Given the description of an element on the screen output the (x, y) to click on. 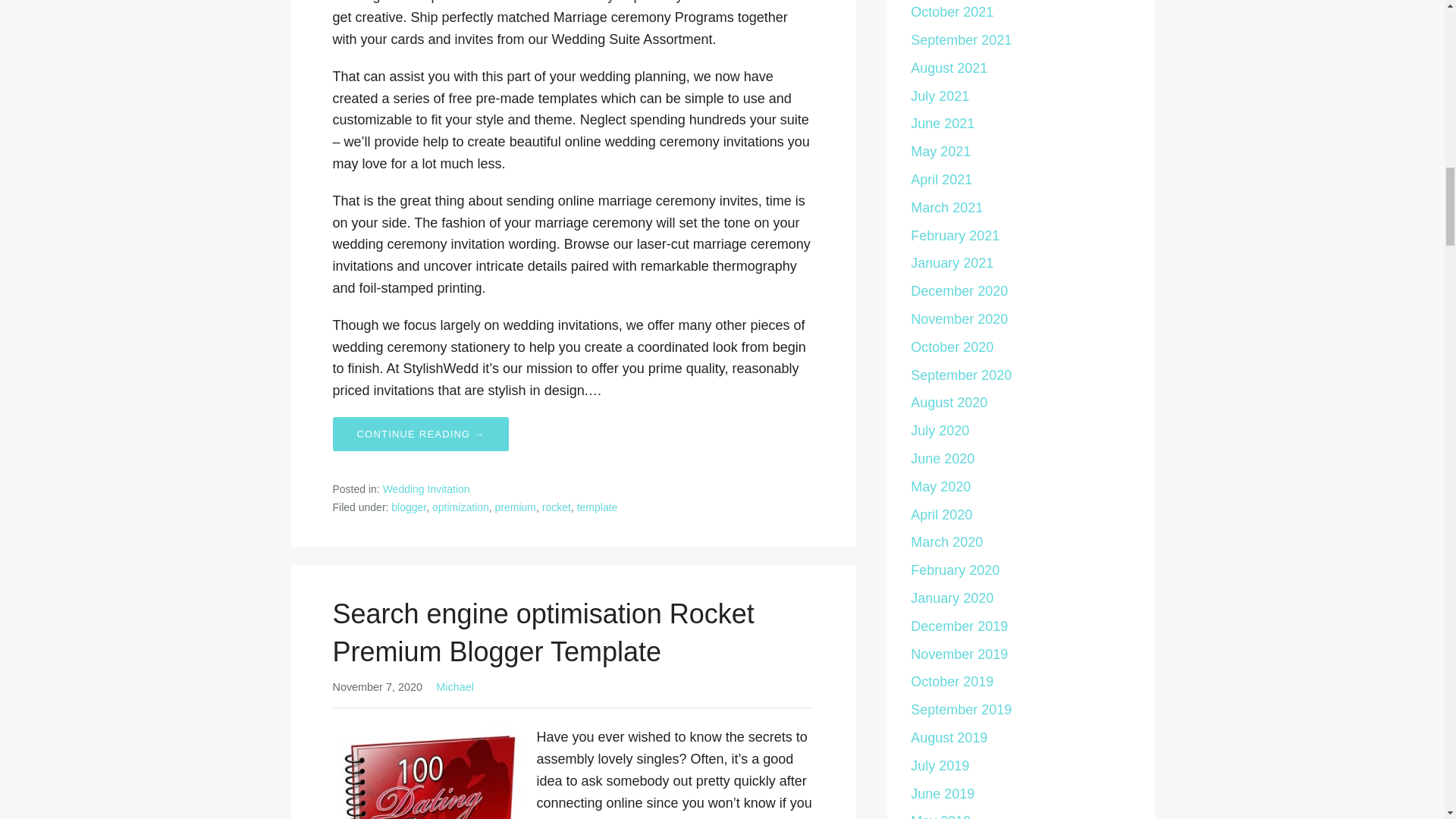
Search engine optimisation Rocket Premium Blogger Template (542, 632)
blogger (408, 507)
Wedding Invitation (426, 489)
Posts by Michael (454, 686)
template (596, 507)
rocket (555, 507)
Michael (454, 686)
optimization (460, 507)
premium (515, 507)
